Given the description of an element on the screen output the (x, y) to click on. 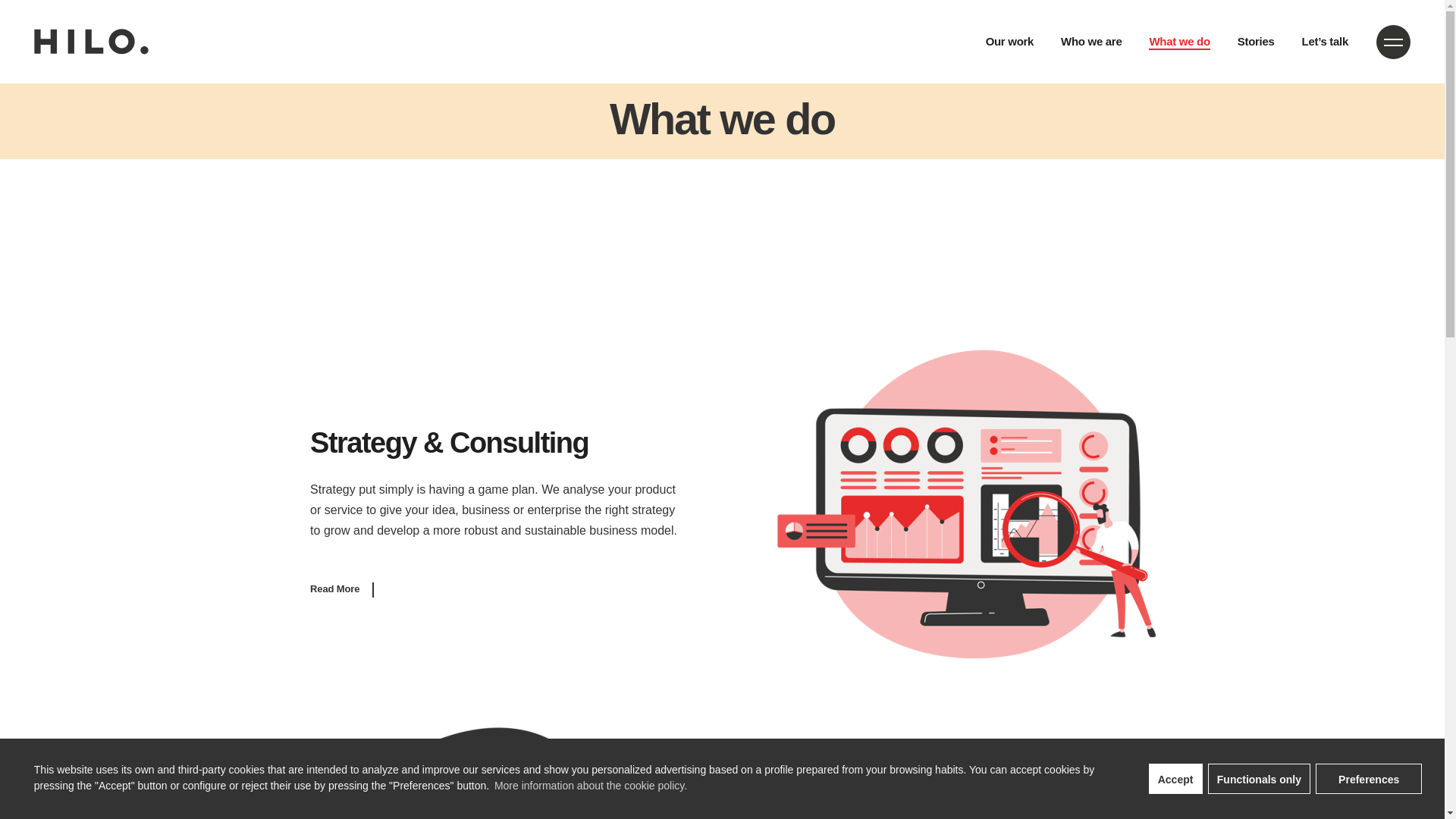
Read More (342, 589)
Functionals only (1259, 778)
Who we are (1091, 41)
What we do (1178, 41)
digital-communications (475, 772)
Preferences (1369, 778)
Accept (1175, 778)
estrategy-and-consulting (968, 503)
Our work (1009, 41)
More information about the cookie policy. (589, 785)
Stories (1256, 41)
